Given the description of an element on the screen output the (x, y) to click on. 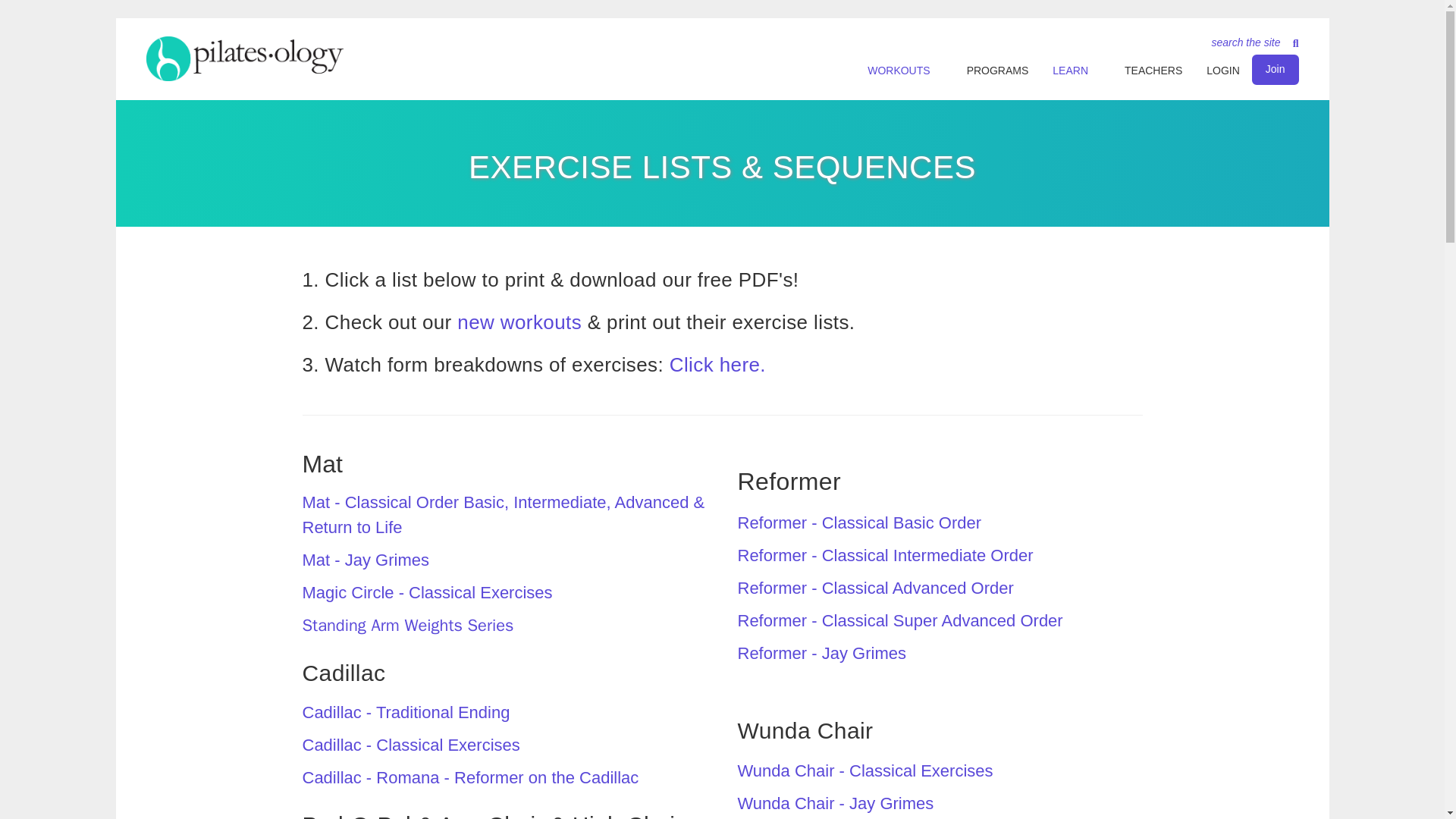
LEARN (1064, 71)
PROGRAMS (998, 71)
WORKOUTS (893, 71)
